Given the description of an element on the screen output the (x, y) to click on. 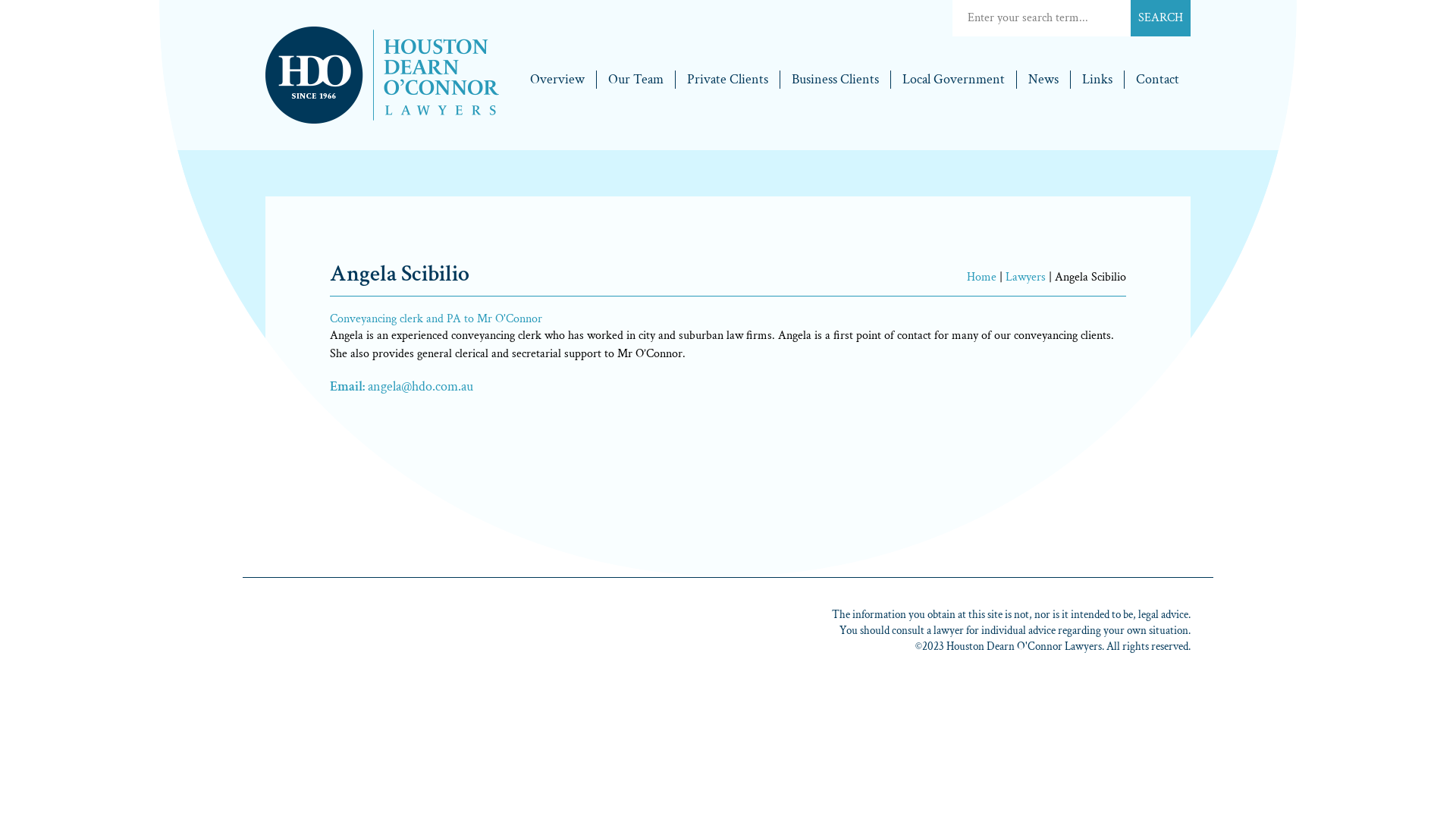
Local Government Element type: text (953, 79)
Contact Element type: text (1157, 79)
Links Element type: text (1097, 79)
Lawyers Element type: text (1025, 277)
Private Clients Element type: text (727, 79)
Overview Element type: text (557, 79)
Our Team Element type: text (635, 79)
News Element type: text (1043, 79)
Home Element type: text (981, 277)
Search Element type: hover (1041, 18)
angela@hdo.com.au Element type: text (420, 386)
Search Element type: text (1160, 18)
Business Clients Element type: text (835, 79)
Houston Dearn O'Connor Lawyers Element type: hover (381, 37)
